Given the description of an element on the screen output the (x, y) to click on. 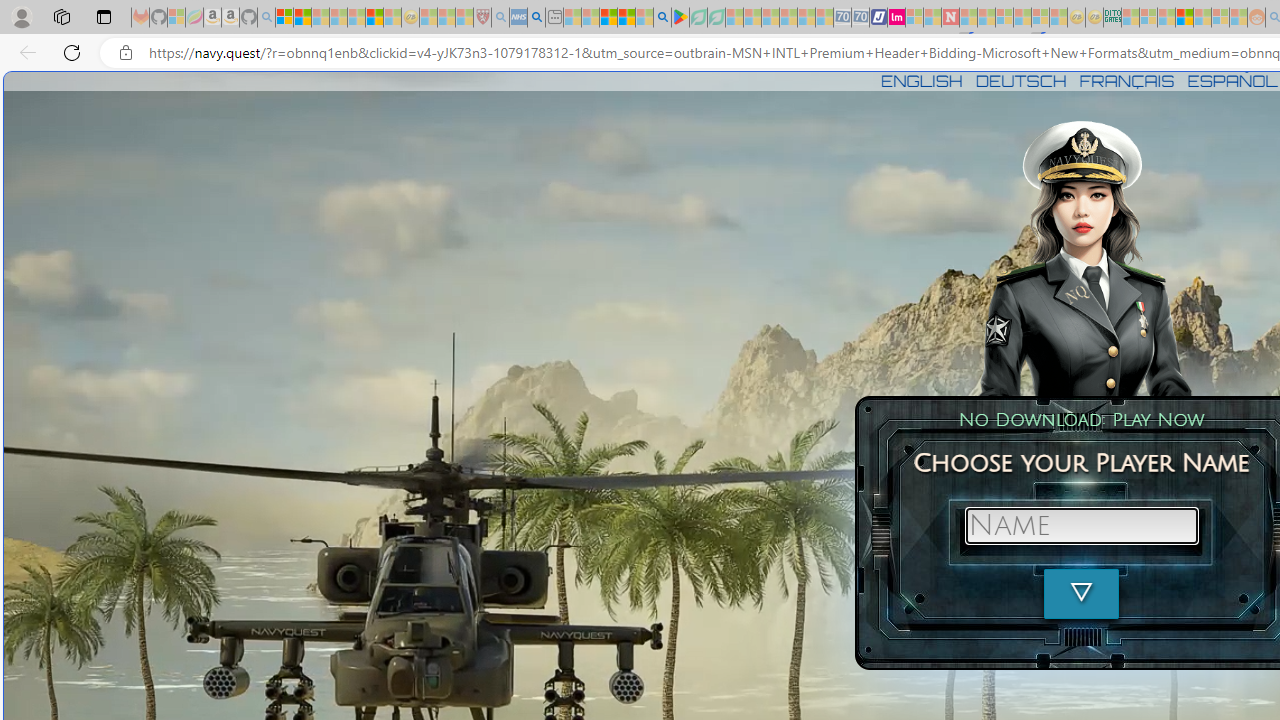
DEUTSCH (1021, 80)
utah sues federal government - Search (536, 17)
